Given the description of an element on the screen output the (x, y) to click on. 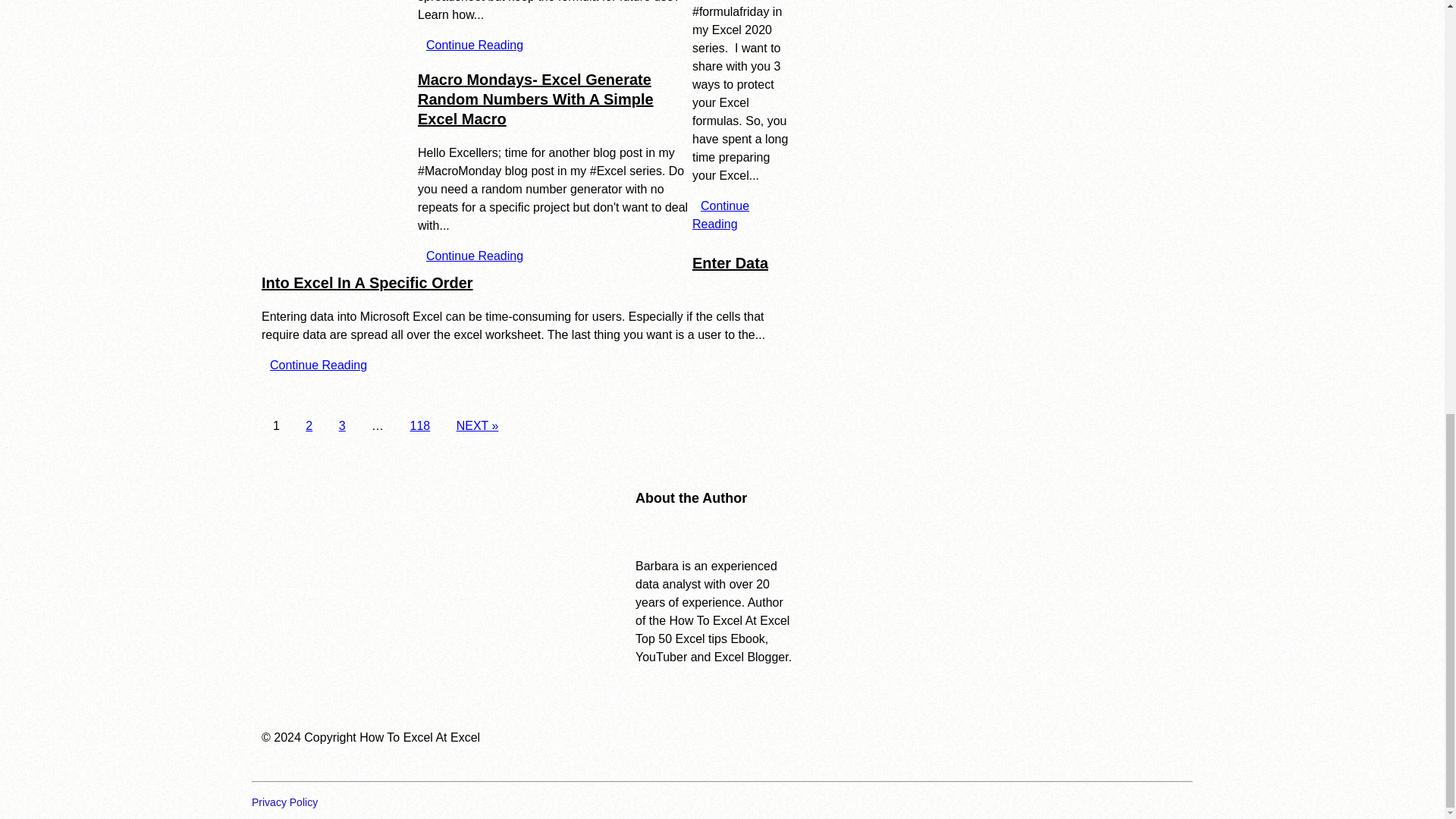
Continue Reading (721, 214)
Enter Data Into Excel In A Specific Order (515, 272)
Continue Reading (318, 364)
Continue Reading (474, 45)
Continue Reading (474, 255)
